Given the description of an element on the screen output the (x, y) to click on. 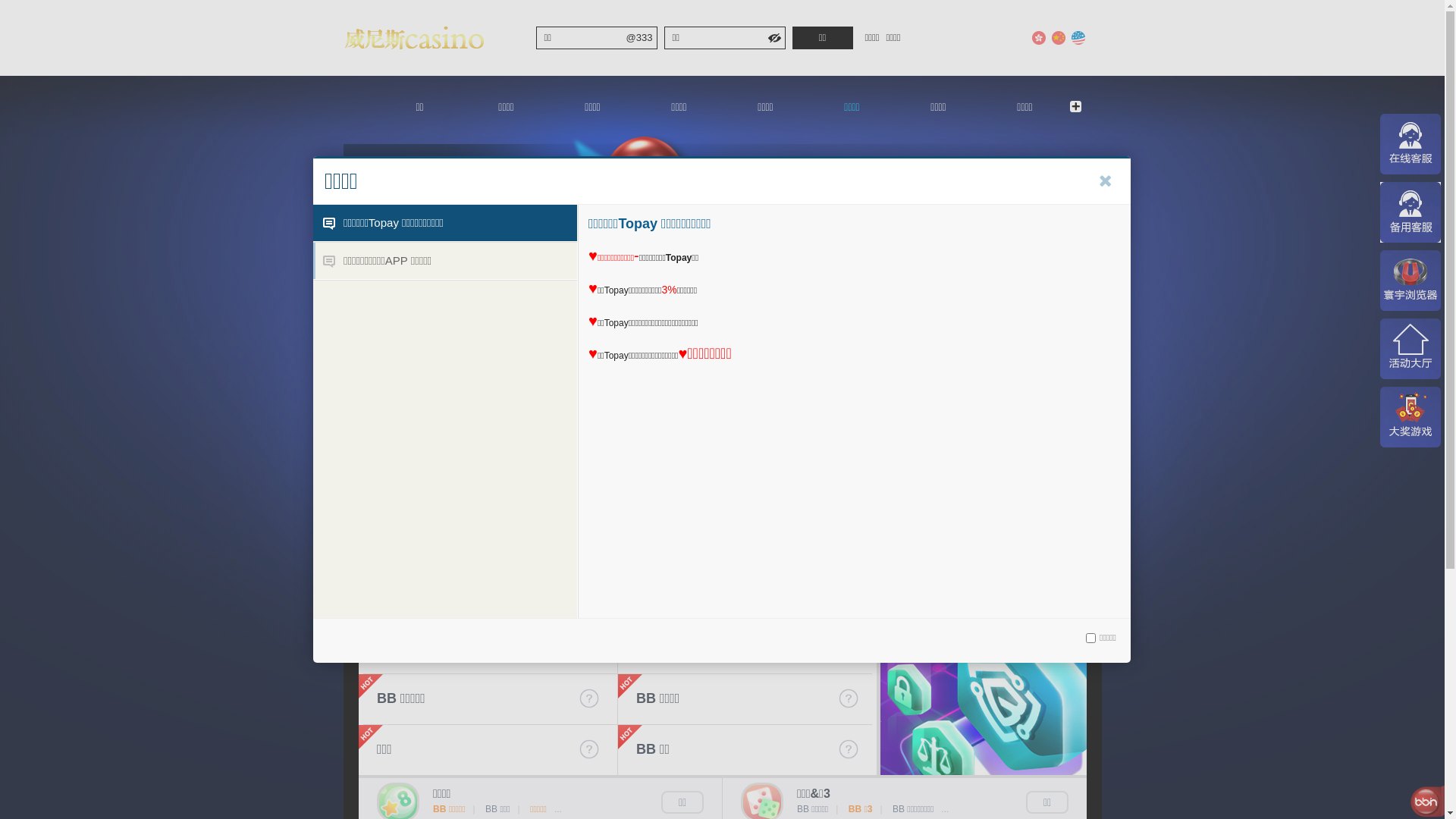
English Element type: hover (1077, 37)
